Given the description of an element on the screen output the (x, y) to click on. 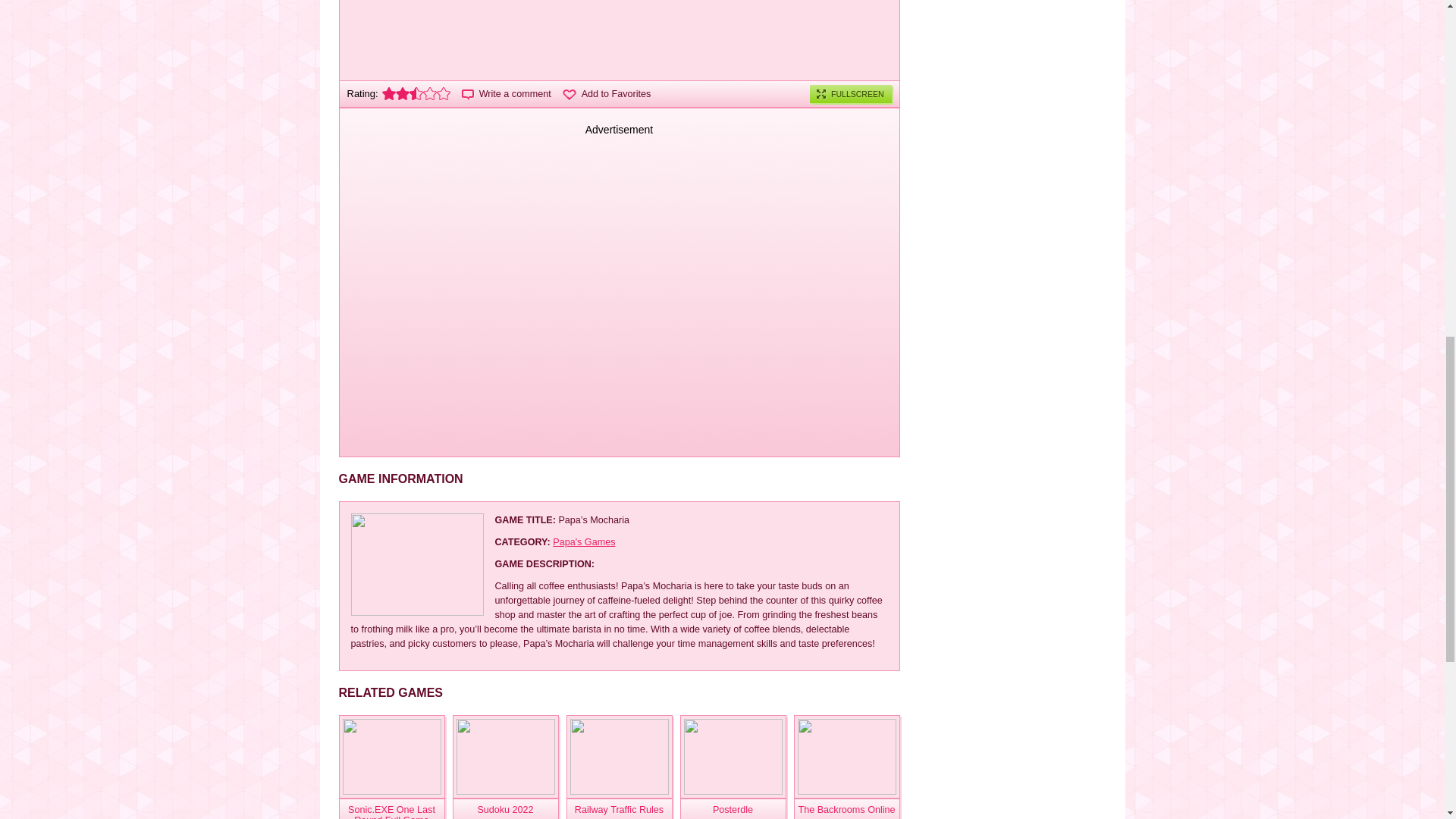
The Backrooms Online (846, 808)
5 Stars (442, 92)
Sudoku 2022 (504, 808)
Papa's Games (583, 542)
Railway Traffic Rules (618, 756)
Add to Favorites (606, 93)
Railway Traffic Rules (618, 808)
Sonic.EXE One Last Round Full Game (390, 808)
1 Star (388, 92)
Sudoku 2022 (504, 756)
The Backrooms Online (846, 756)
4 Stars (429, 92)
Write a comment (506, 93)
Posterdle (732, 808)
Posterdle (732, 808)
